Given the description of an element on the screen output the (x, y) to click on. 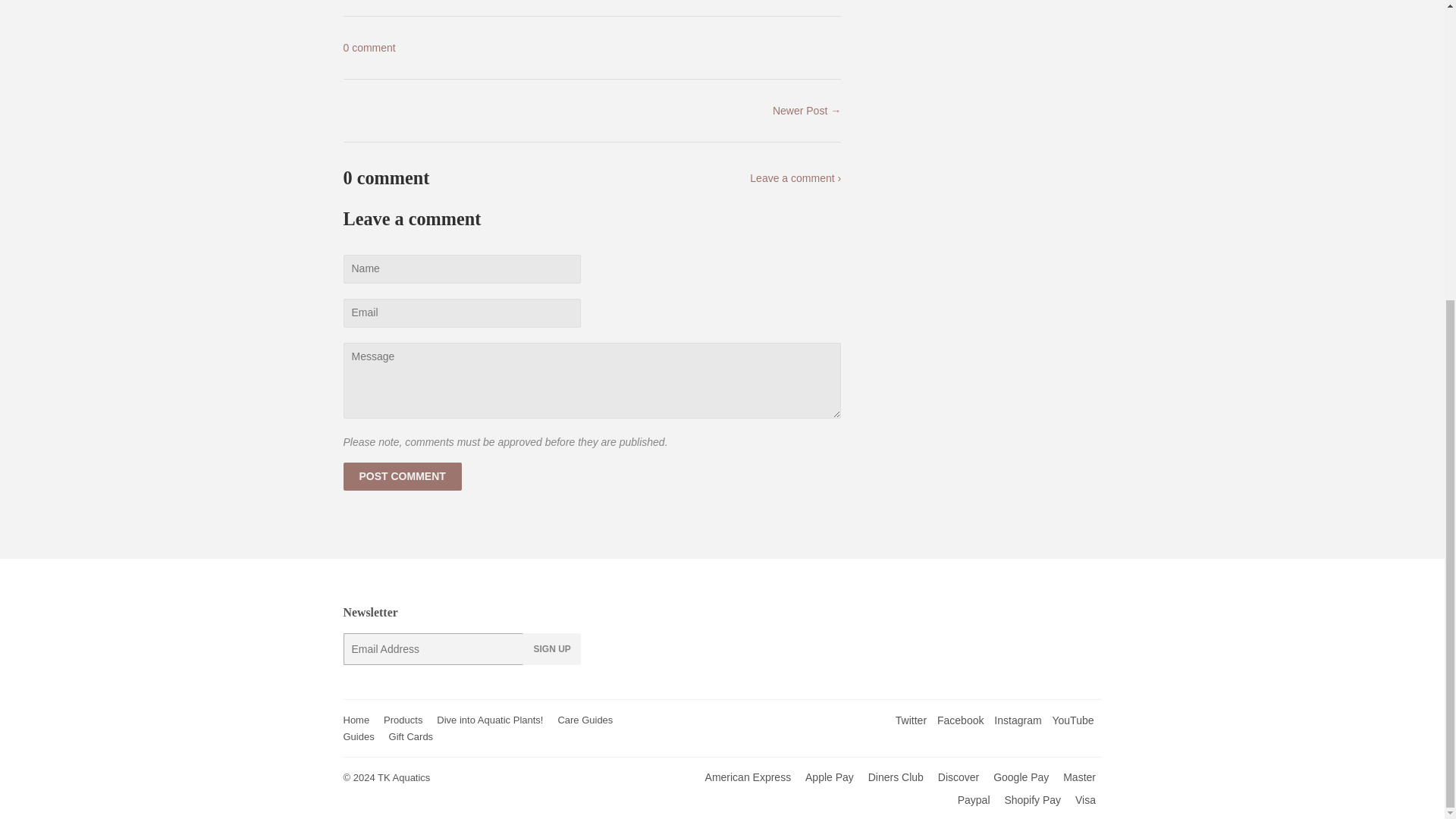
TK Aquatics on YouTube (1072, 720)
Guides (358, 736)
SIGN UP (550, 649)
Post comment (401, 475)
TK Aquatics on Twitter (910, 720)
Post comment (401, 475)
0 comment (368, 47)
TK Aquatics on Facebook (960, 720)
Home (355, 719)
Dive into Aquatic Plants! (489, 719)
Products (403, 719)
Care Guides (584, 719)
TK Aquatics on Instagram (1017, 720)
